Given the description of an element on the screen output the (x, y) to click on. 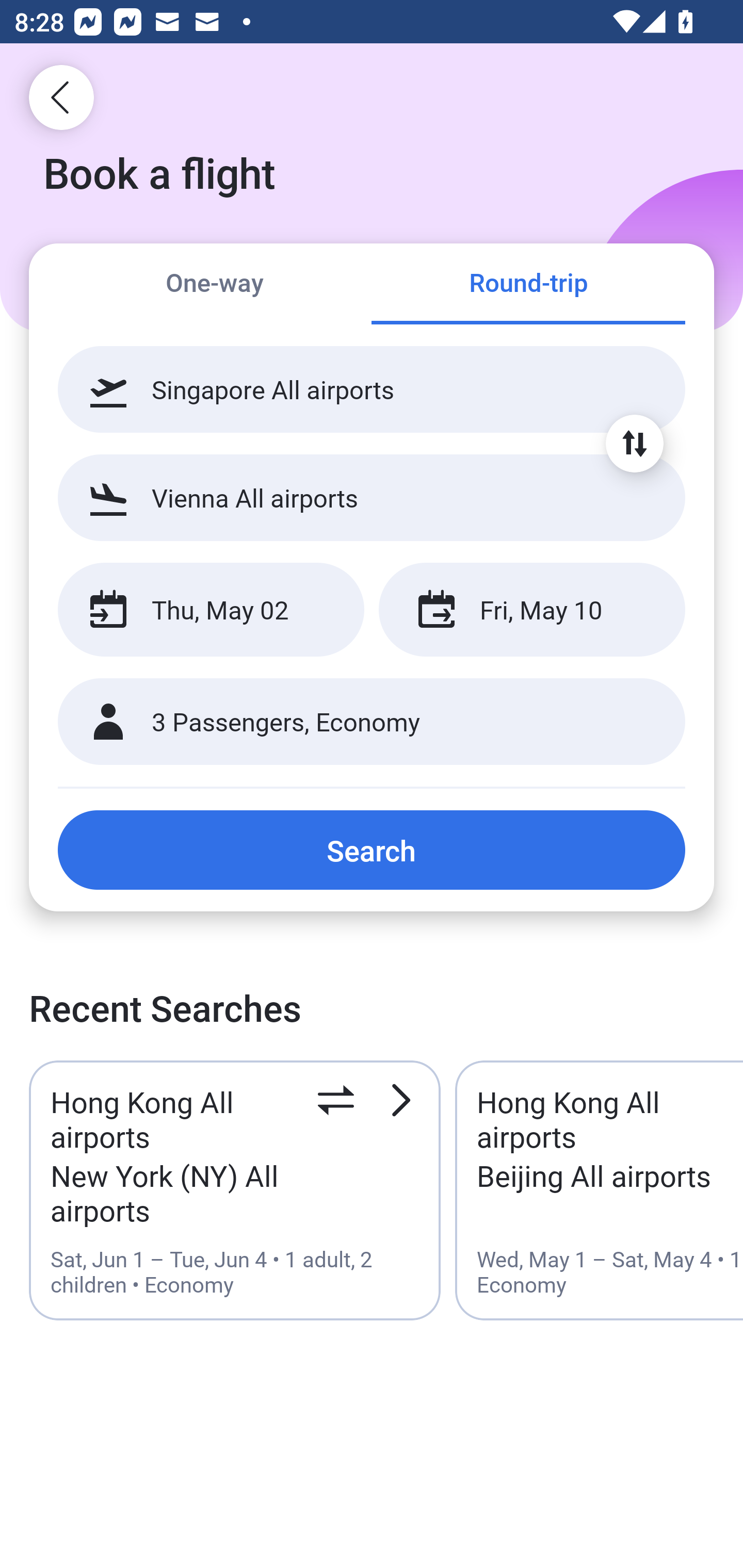
One-way (214, 284)
Singapore All airports (371, 389)
Vienna All airports (371, 497)
Thu, May 02 (210, 609)
Fri, May 10 (531, 609)
3 Passengers, Economy (371, 721)
Search (371, 849)
